Given the description of an element on the screen output the (x, y) to click on. 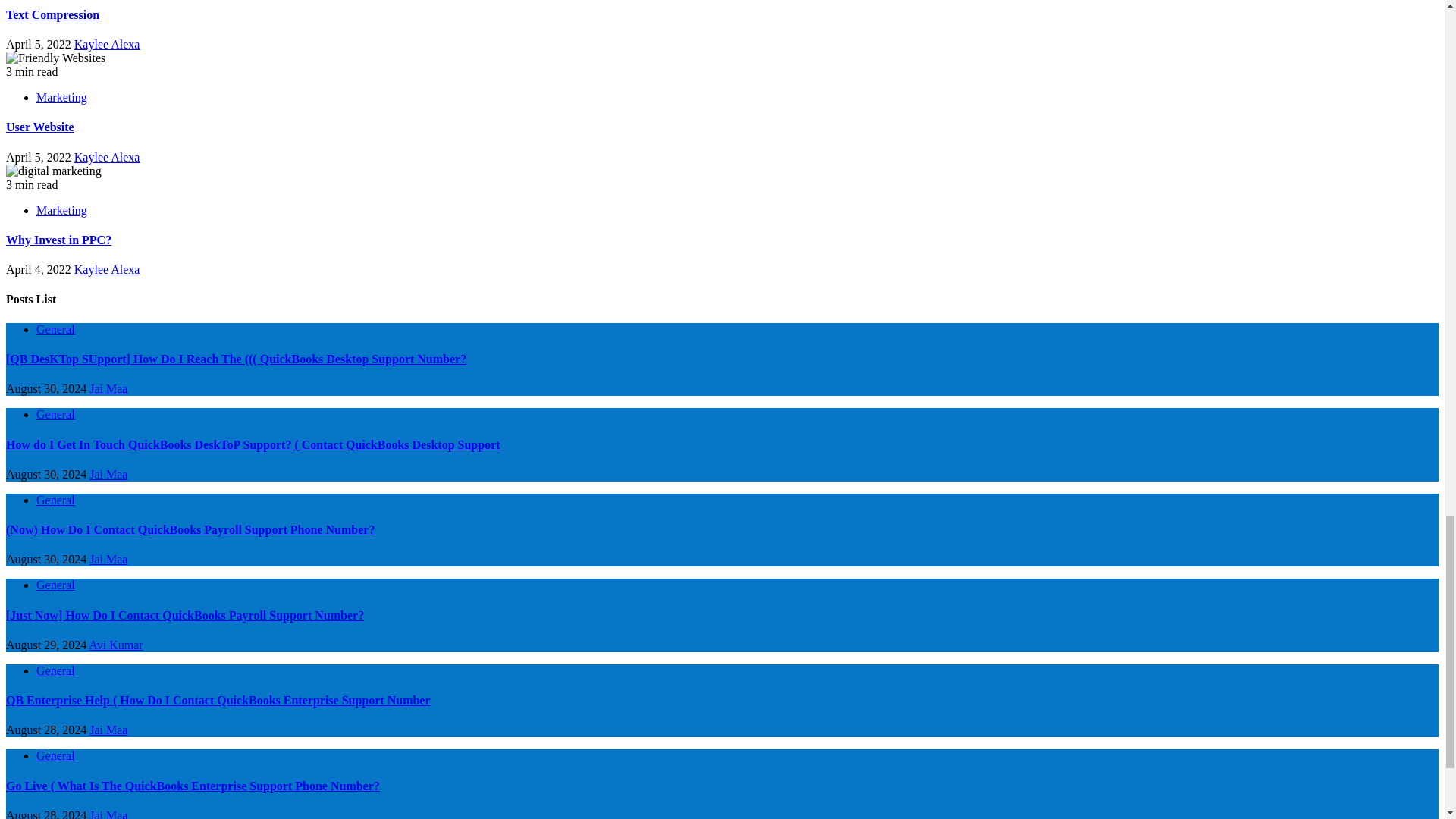
Why Invest in PPC? (58, 239)
Kaylee Alexa (106, 43)
Kaylee Alexa (106, 269)
Text Compression (52, 14)
Kaylee Alexa (106, 156)
Marketing (61, 210)
Marketing (61, 97)
User Website (39, 126)
